Given the description of an element on the screen output the (x, y) to click on. 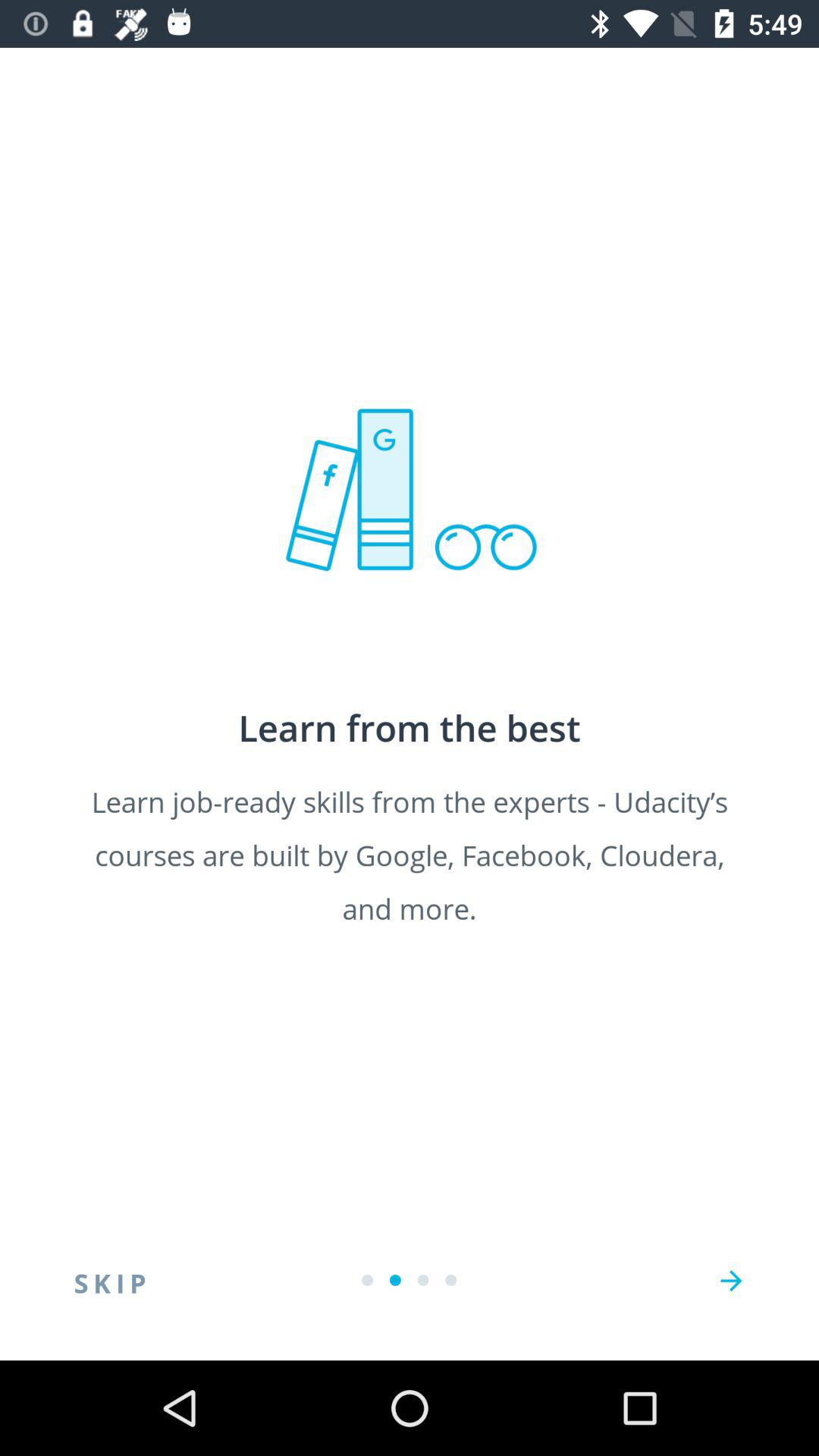
turn on icon below the learn job ready (731, 1280)
